Given the description of an element on the screen output the (x, y) to click on. 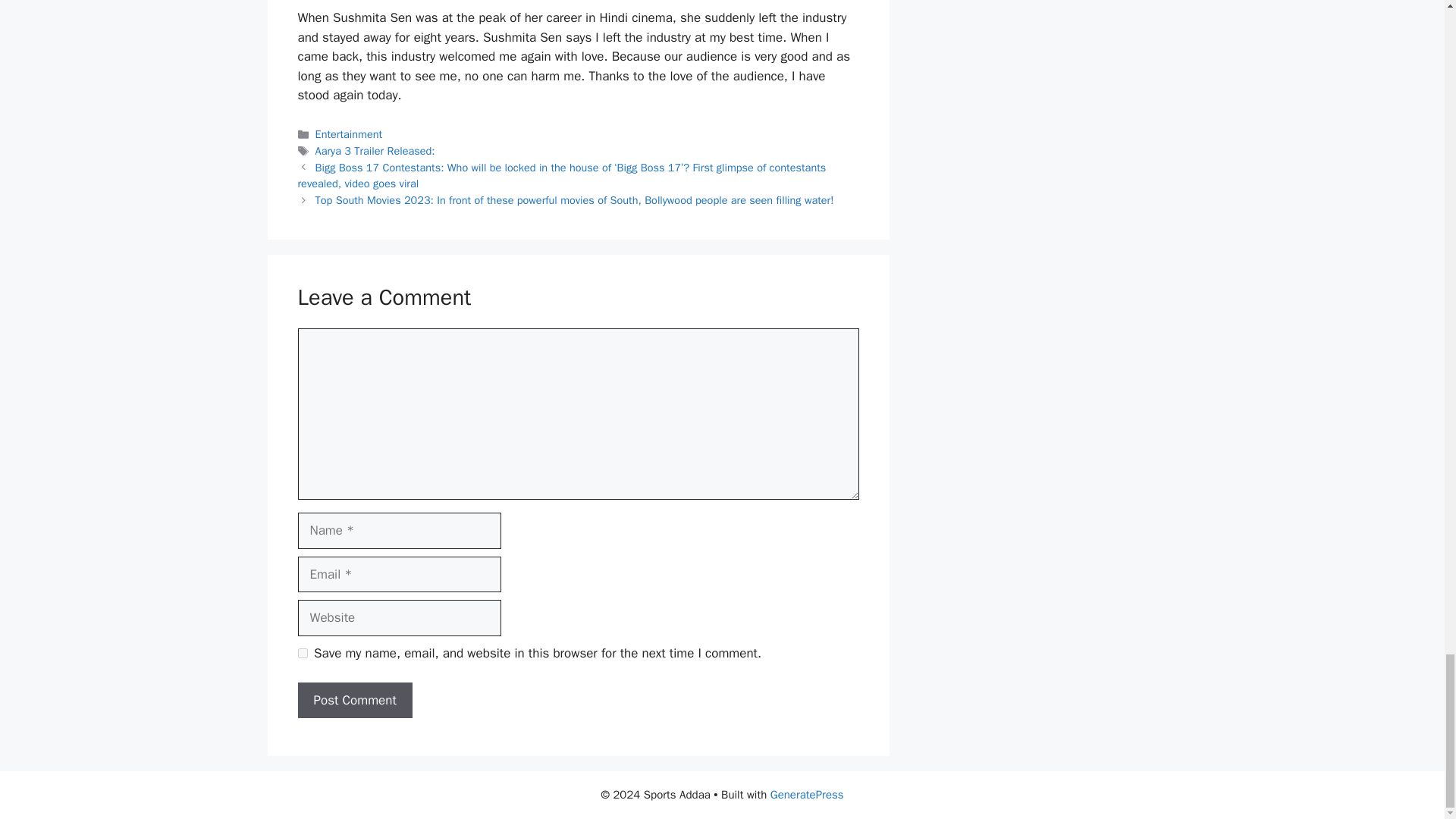
GeneratePress (807, 794)
Post Comment (354, 700)
yes (302, 653)
Entertainment (348, 133)
Aarya 3 Trailer Released: (375, 151)
Post Comment (354, 700)
